Given the description of an element on the screen output the (x, y) to click on. 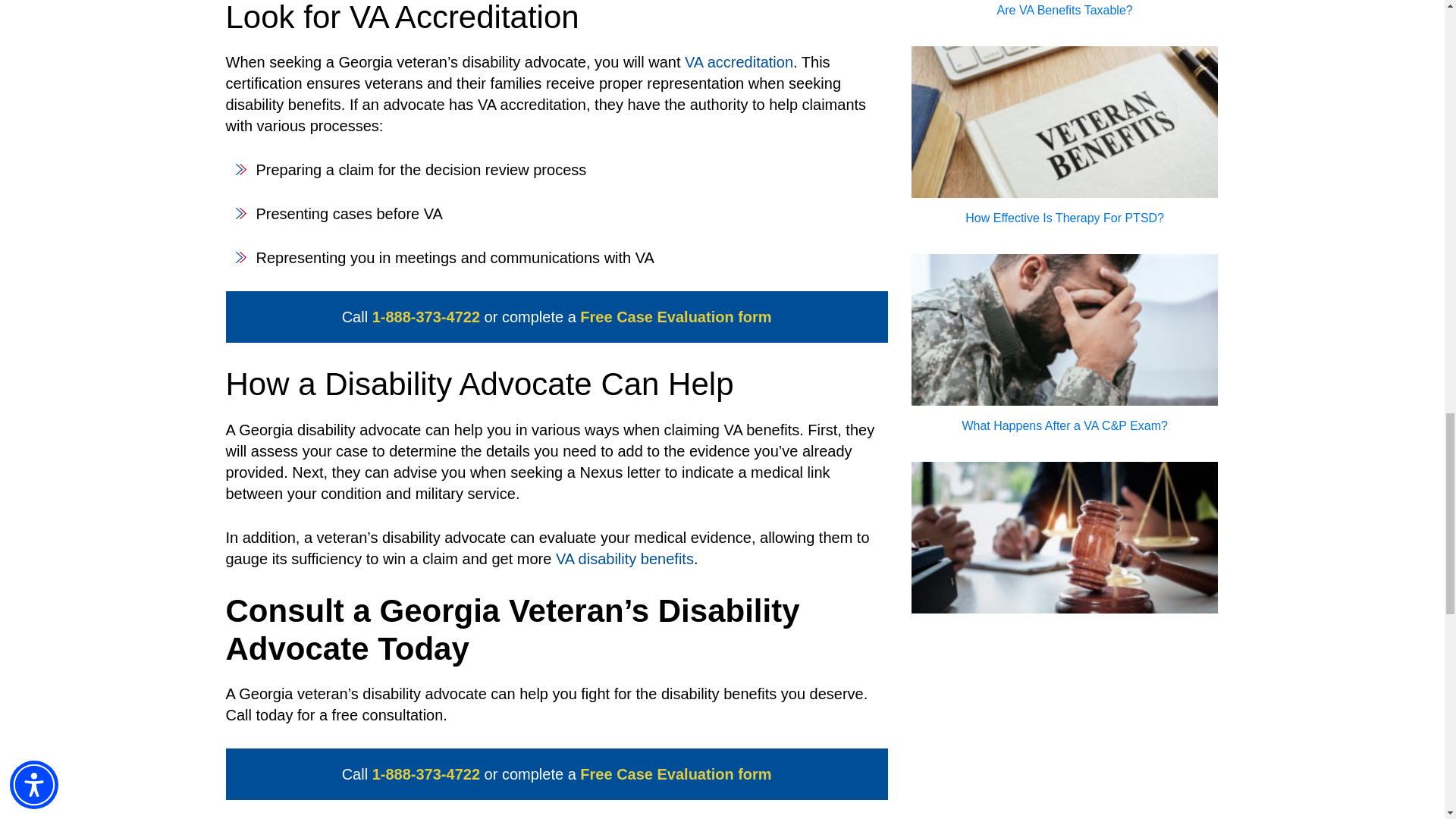
Are VA Benefits Taxable? (1064, 99)
How Effective Is Therapy For PTSD? (1064, 301)
